Given the description of an element on the screen output the (x, y) to click on. 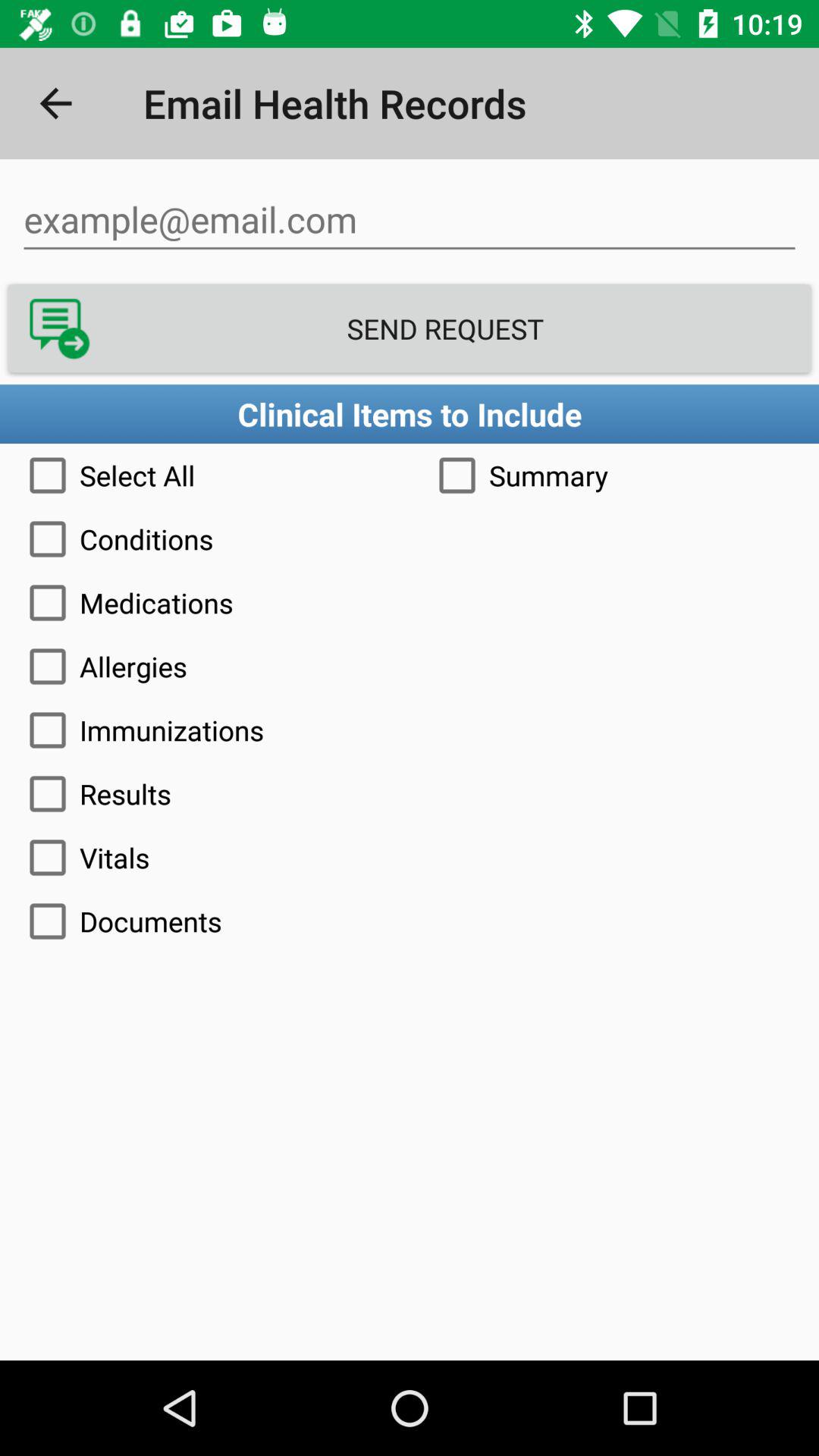
open icon above vitals item (409, 793)
